Given the description of an element on the screen output the (x, y) to click on. 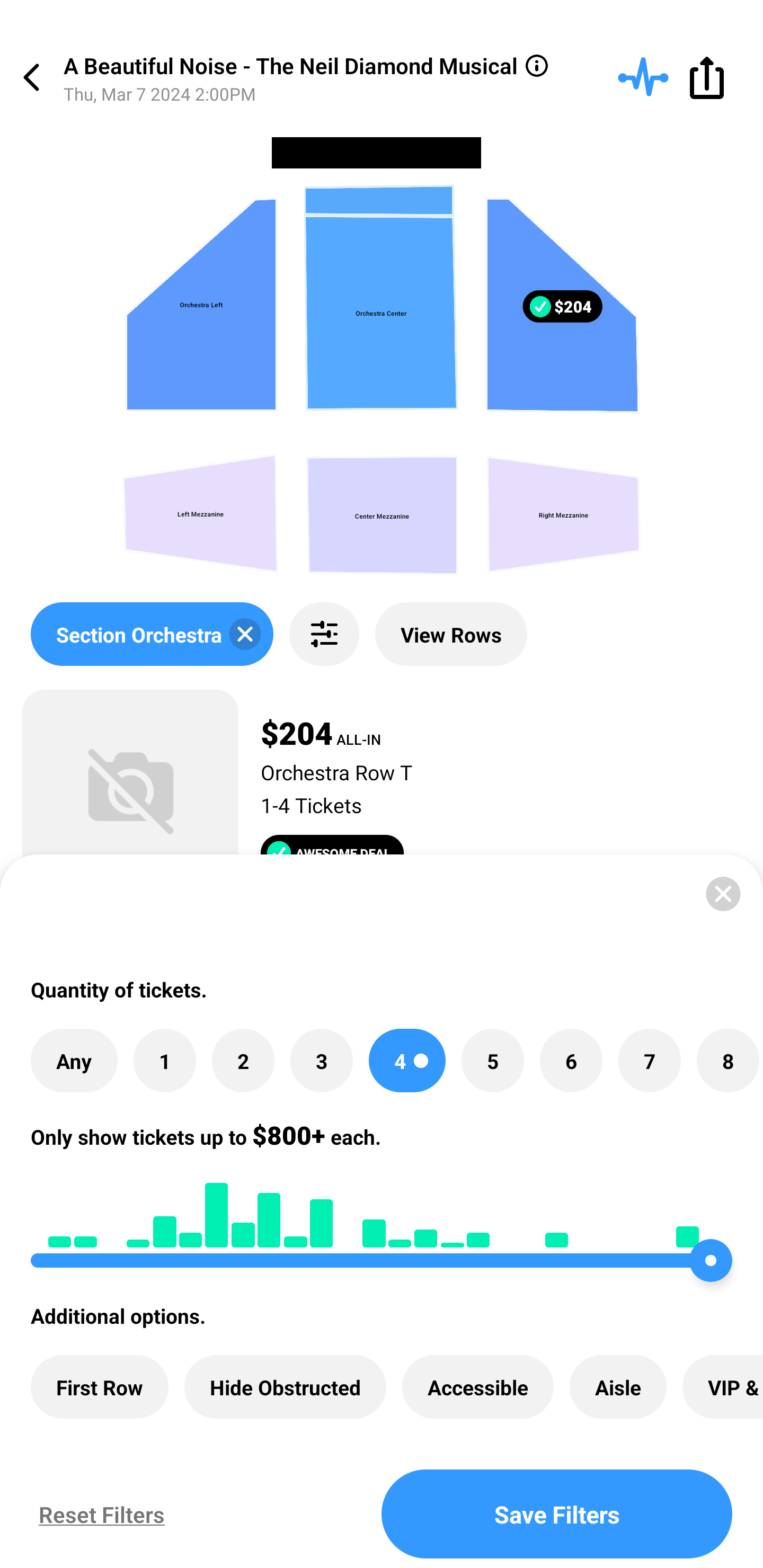
Any (73, 1060)
1 (164, 1060)
2 (243, 1060)
3 (321, 1060)
4 (406, 1060)
5 (492, 1060)
6 (571, 1060)
7 (649, 1060)
8 (727, 1060)
First Row (99, 1386)
Hide Obstructed (285, 1386)
Accessible (477, 1386)
Aisle (617, 1386)
Save Filters (556, 1513)
Reset Filters (97, 1513)
